Given the description of an element on the screen output the (x, y) to click on. 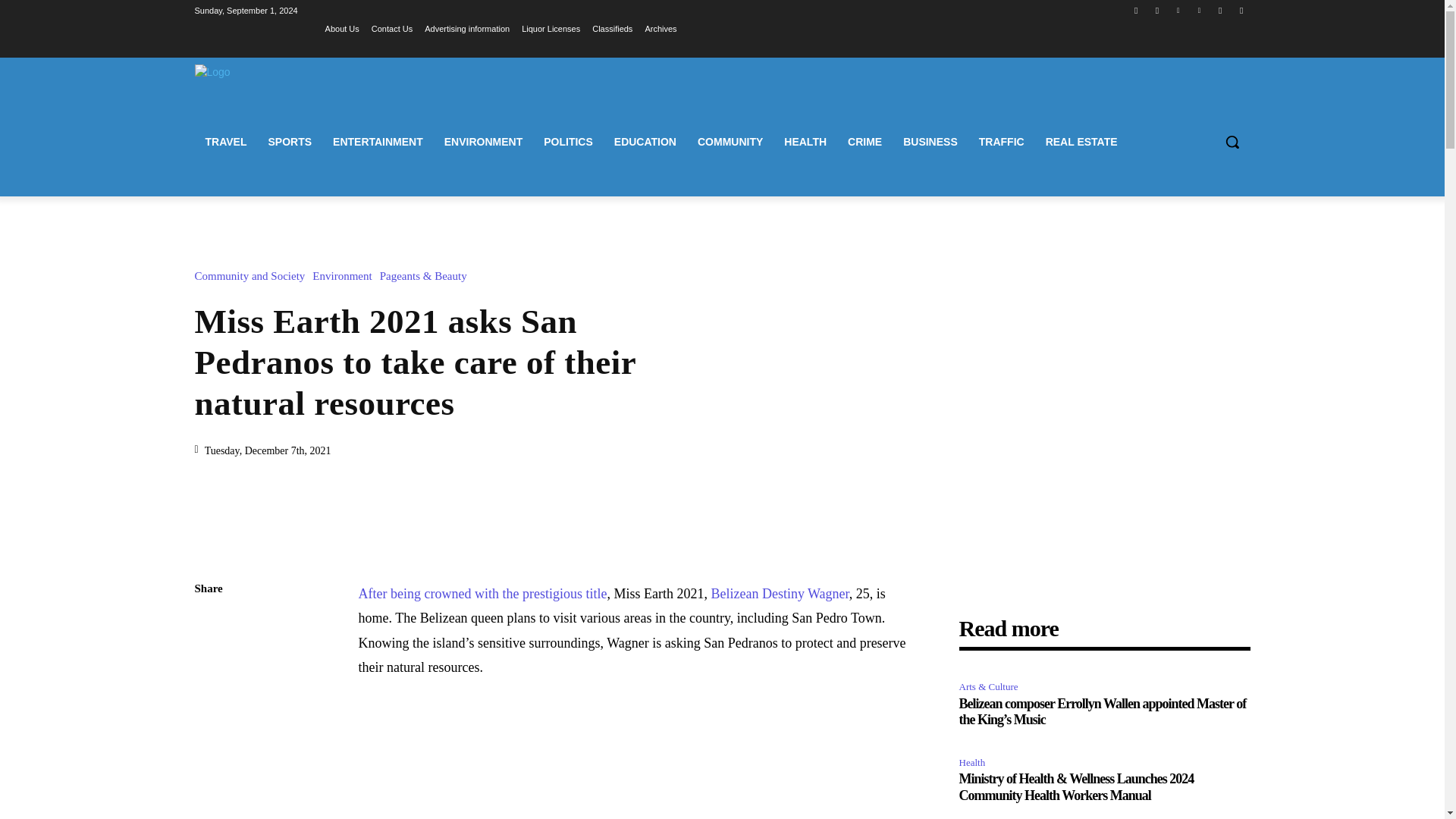
Contact Us (391, 28)
Twitter (1219, 9)
HEALTH (805, 141)
TRAVEL (225, 141)
CRIME (864, 141)
Youtube (1241, 9)
Facebook (1135, 9)
Instagram (1157, 9)
ENTERTAINMENT (377, 141)
Linkedin (1177, 9)
